Given the description of an element on the screen output the (x, y) to click on. 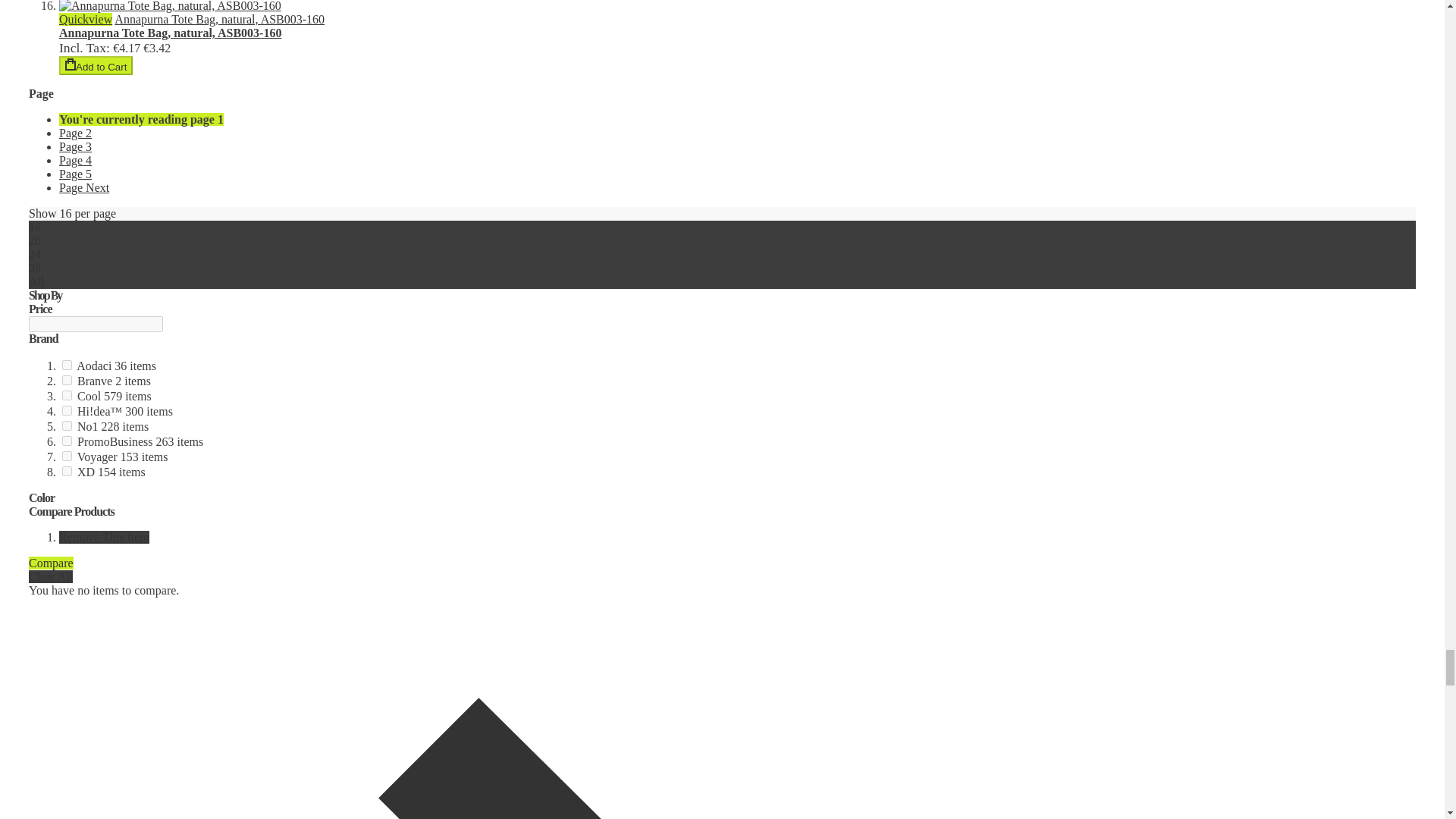
23831 (66, 440)
21784 (66, 410)
24789 (66, 470)
17389 (66, 379)
23854 (66, 425)
16815 (66, 395)
18977 (66, 456)
26128 (66, 365)
